Given the description of an element on the screen output the (x, y) to click on. 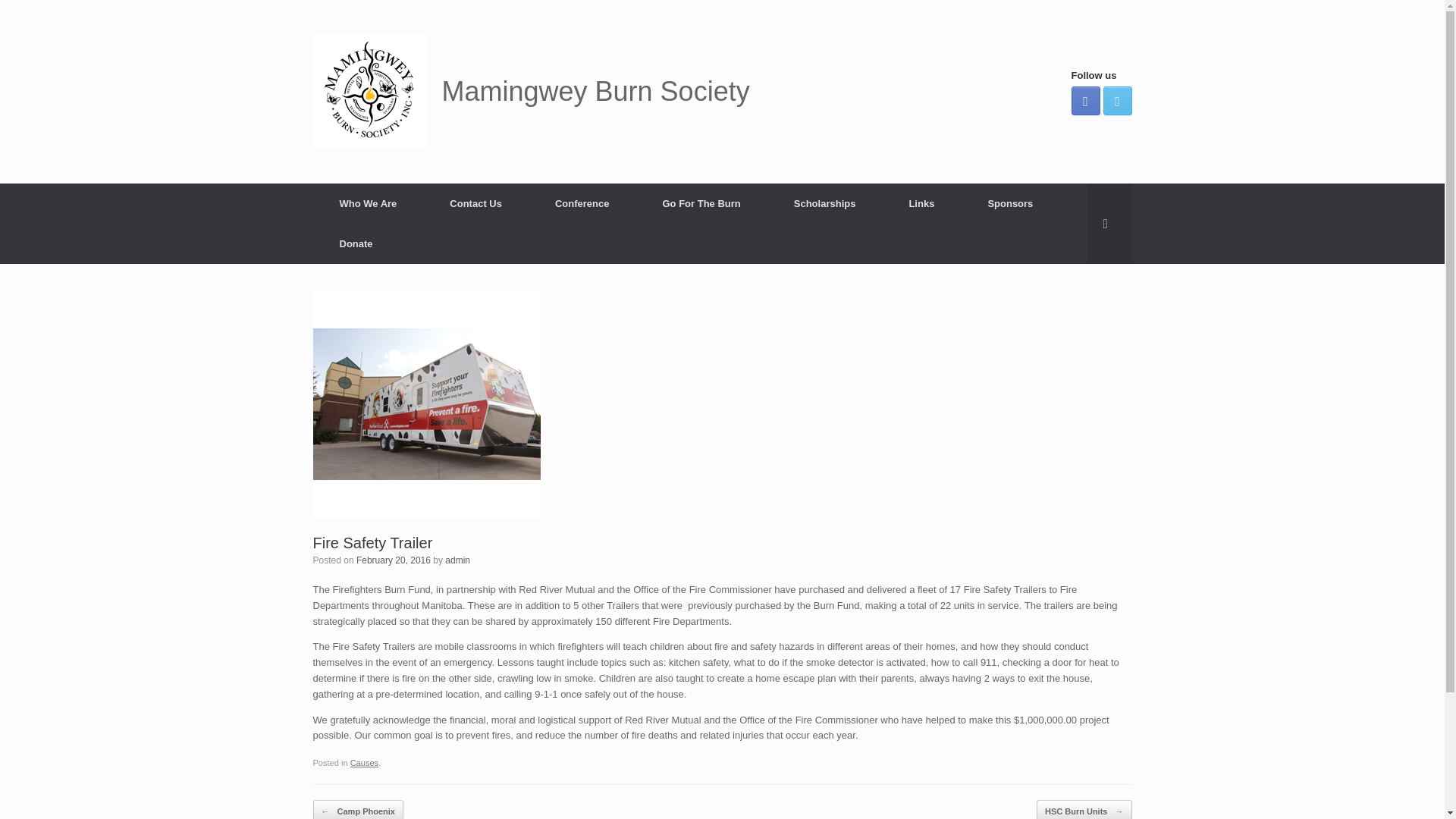
Mamingwey Burn Society (531, 91)
Conference (582, 203)
Who We Are (368, 203)
Contact Us (475, 203)
Scholarships (824, 203)
Causes (364, 762)
February 20, 2016 (393, 560)
Links (921, 203)
Mamingwey Burn Society (531, 91)
Go For The Burn (700, 203)
